Given the description of an element on the screen output the (x, y) to click on. 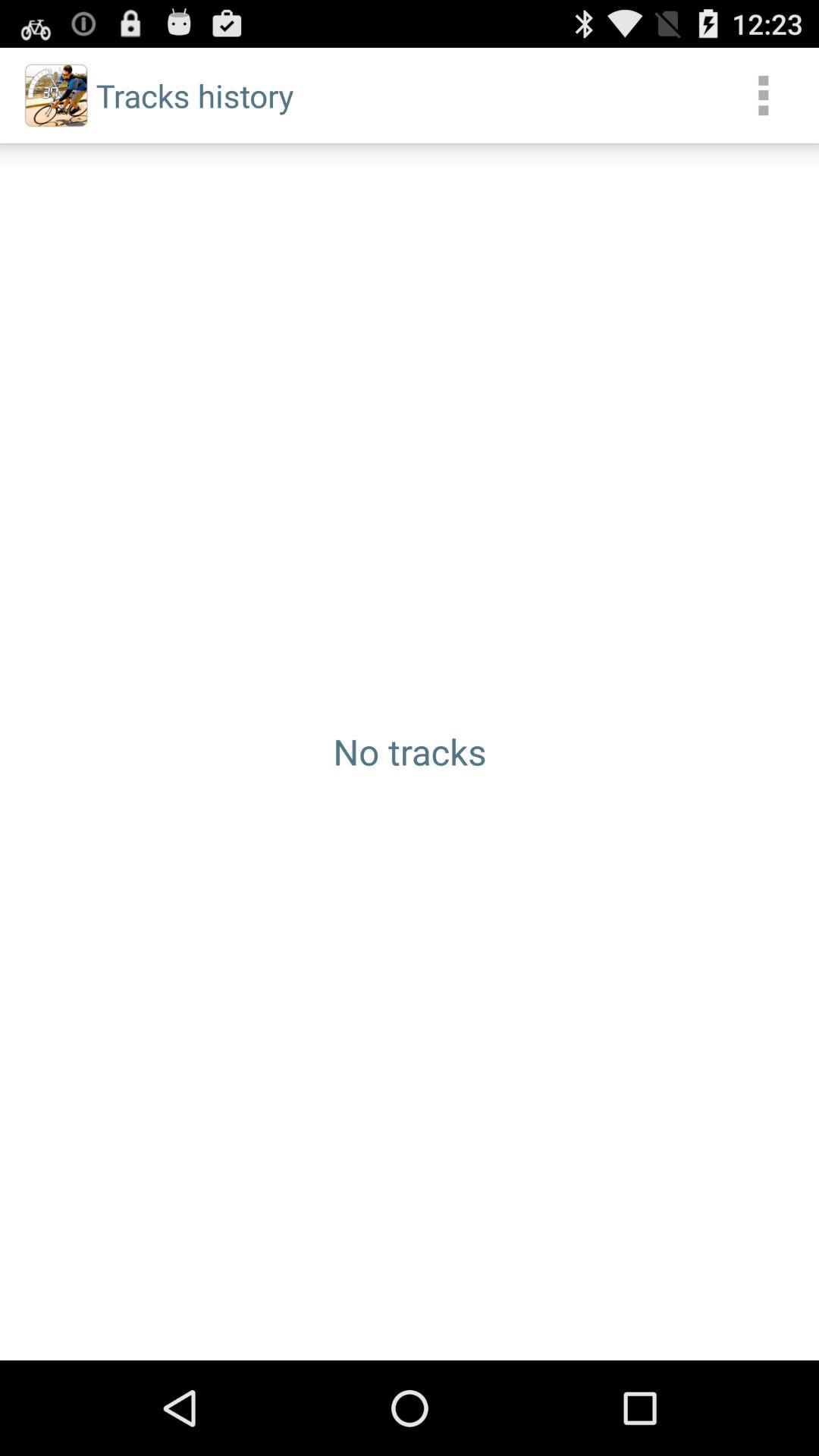
press item to the right of the tracks history app (763, 95)
